Given the description of an element on the screen output the (x, y) to click on. 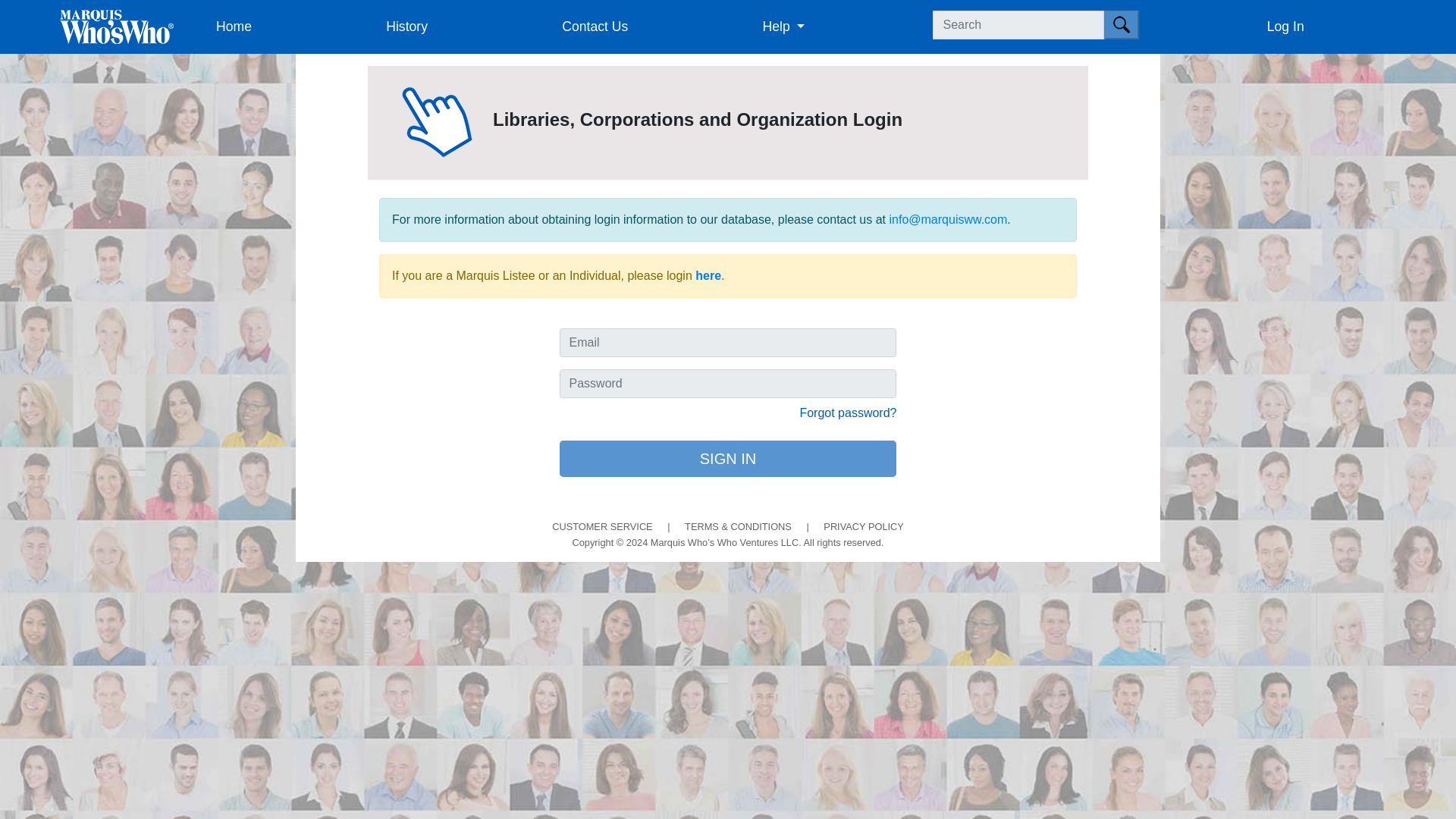
Log In (1346, 26)
Email Address (727, 342)
CUSTOMER SERVICE (601, 525)
SIGN IN (727, 458)
PRIVACY POLICY (864, 525)
Contact Us (655, 26)
Forgot password? (847, 412)
History (468, 26)
here (707, 275)
Password (727, 383)
Help (845, 26)
